Given the description of an element on the screen output the (x, y) to click on. 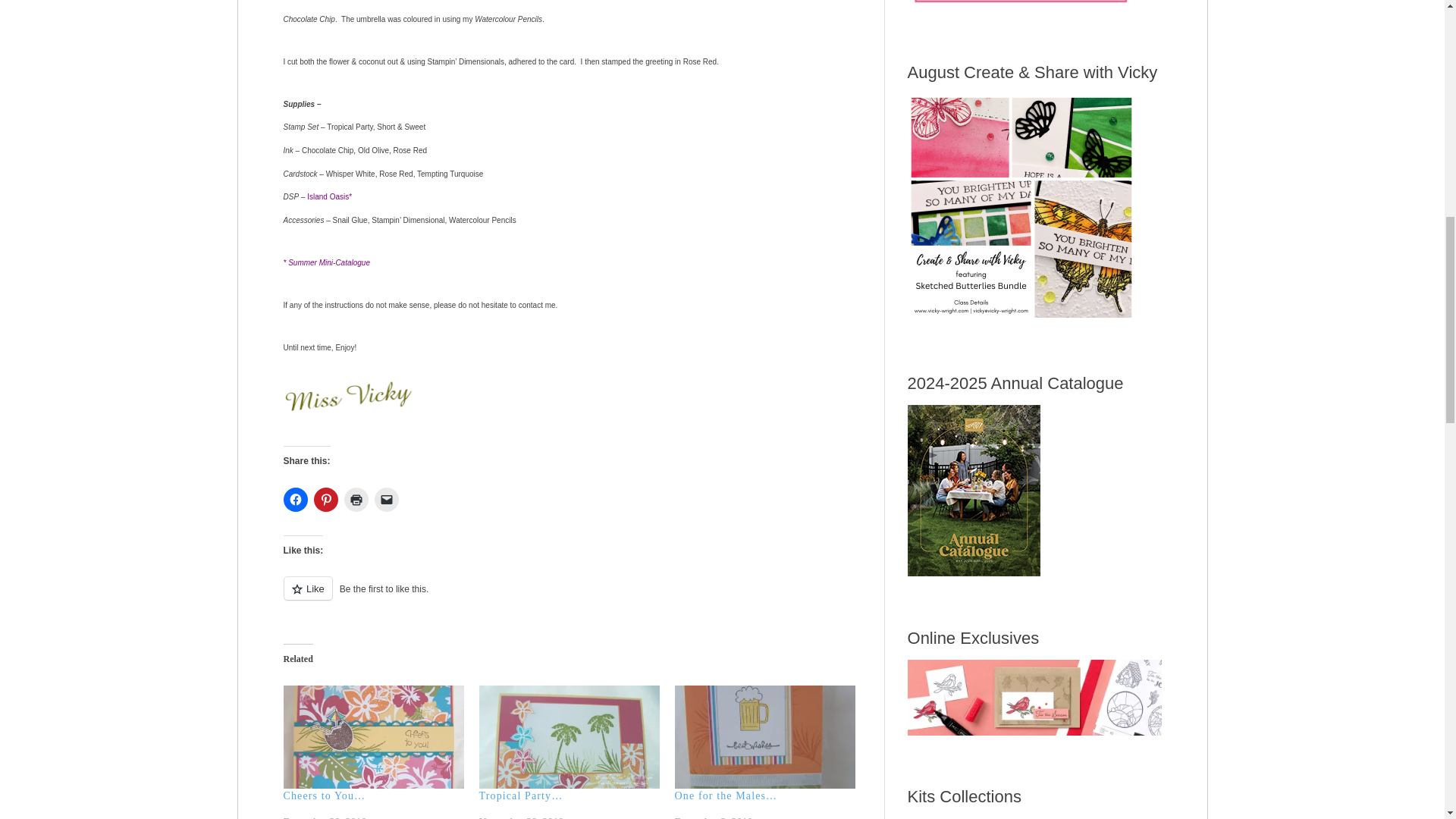
Click to share on Pinterest (325, 499)
Shop Online with Current Host Code (1021, 5)
Click to share on Facebook (295, 499)
Like or Reblog (572, 597)
Click to email a link to a friend (386, 499)
Click to print (355, 499)
